Given the description of an element on the screen output the (x, y) to click on. 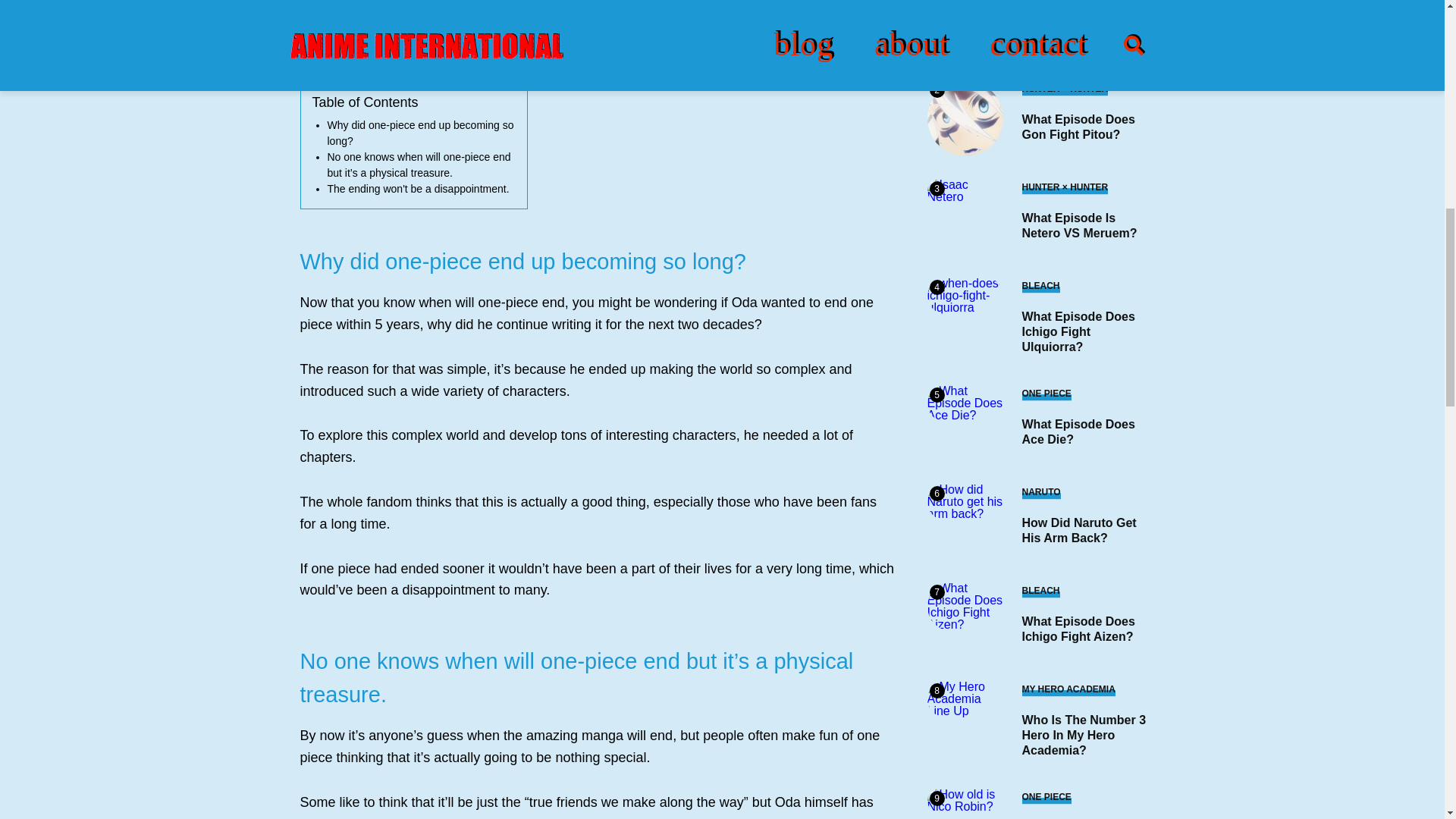
READ MORE BLOGS ABOUT ONE PIECE (423, 50)
The ending won't be a disappointment. (418, 188)
Why did one-piece end up becoming so long? (420, 132)
